Given the description of an element on the screen output the (x, y) to click on. 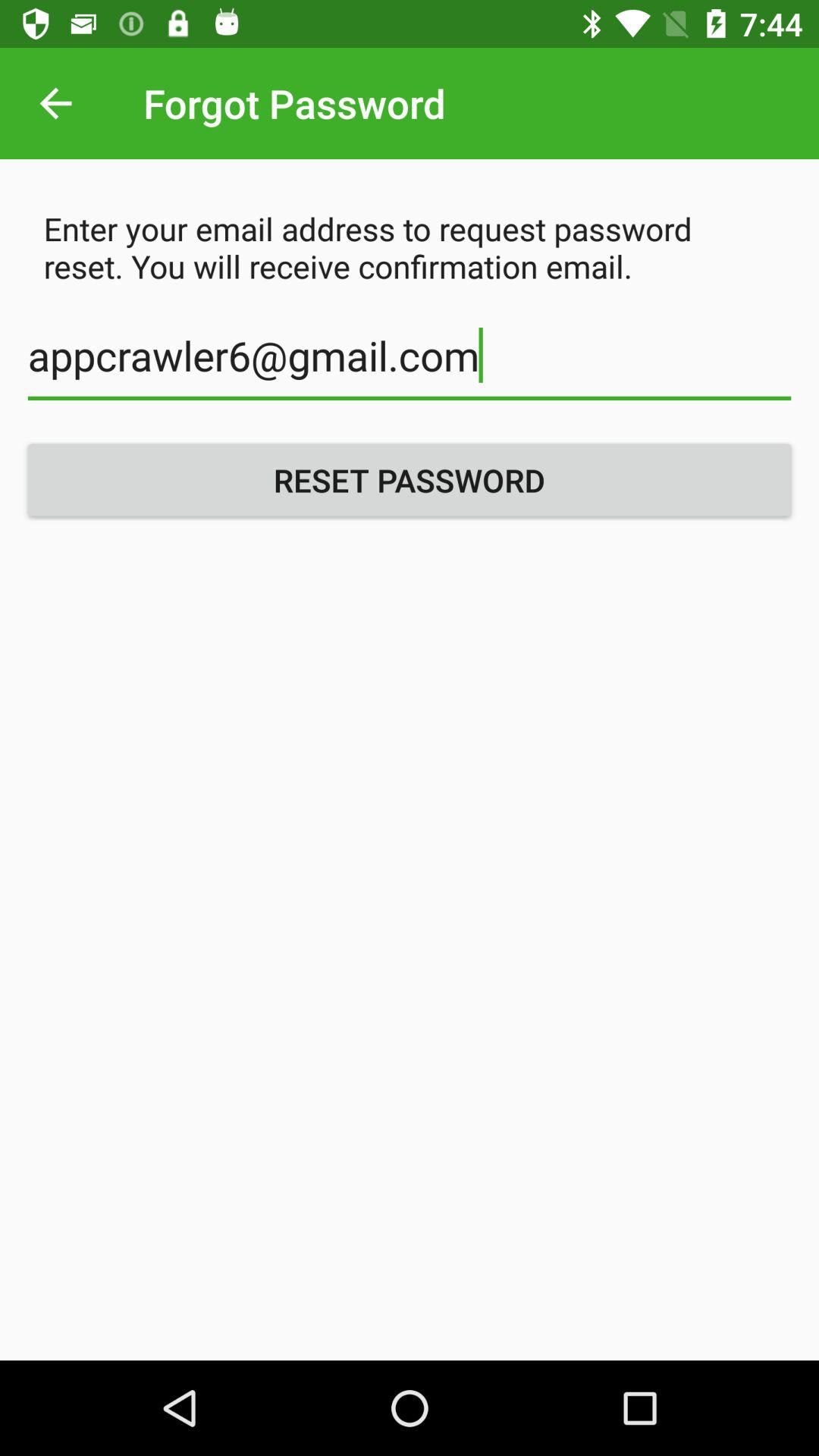
back (55, 103)
